Given the description of an element on the screen output the (x, y) to click on. 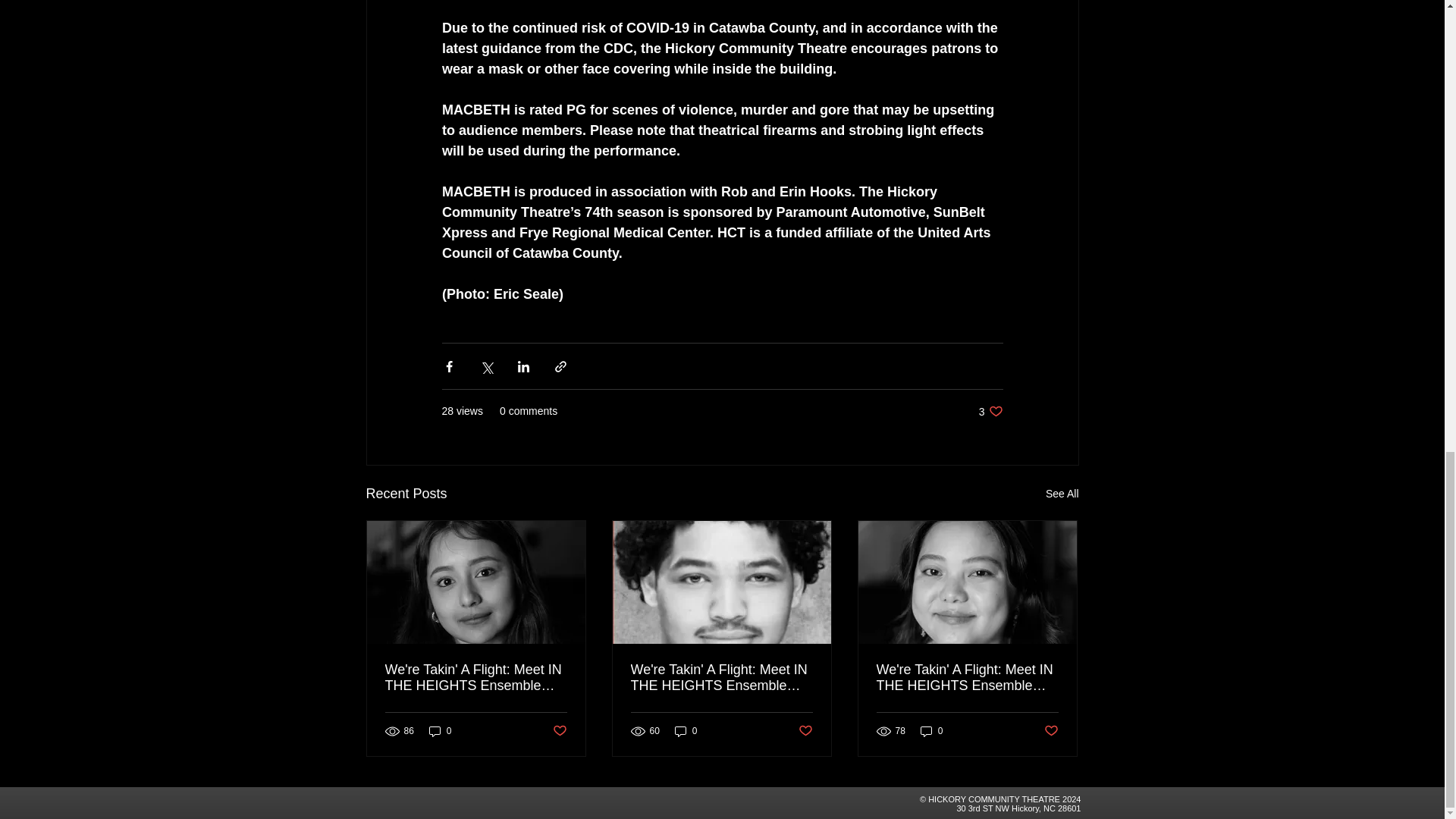
Post not marked as liked (1050, 731)
0 (440, 730)
Post not marked as liked (990, 411)
0 (804, 731)
Post not marked as liked (931, 730)
See All (558, 731)
